Given the description of an element on the screen output the (x, y) to click on. 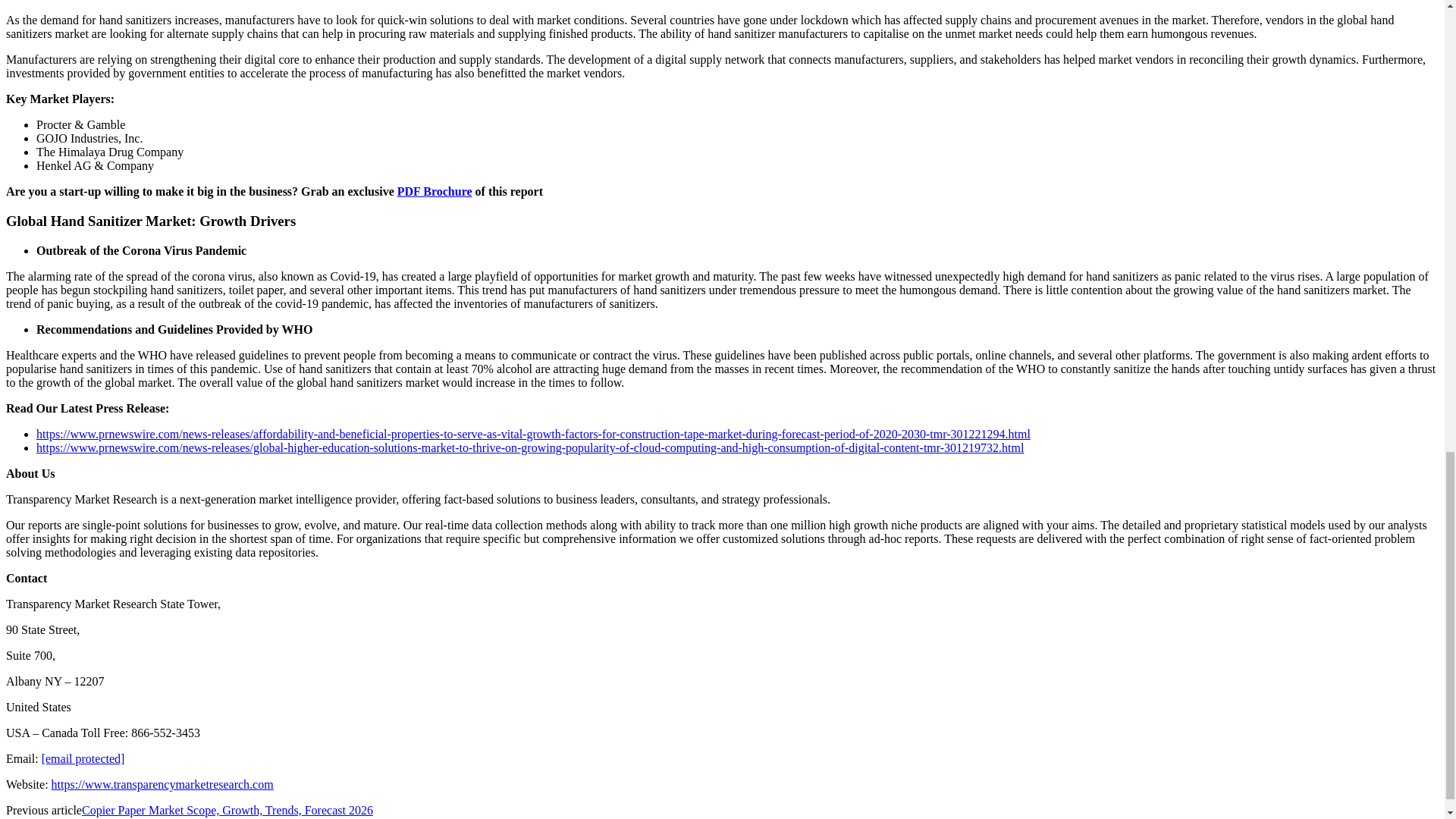
Copier Paper Market Scope, Growth, Trends, Forecast 2026 (226, 809)
PDF Brochure (434, 191)
